Given the description of an element on the screen output the (x, y) to click on. 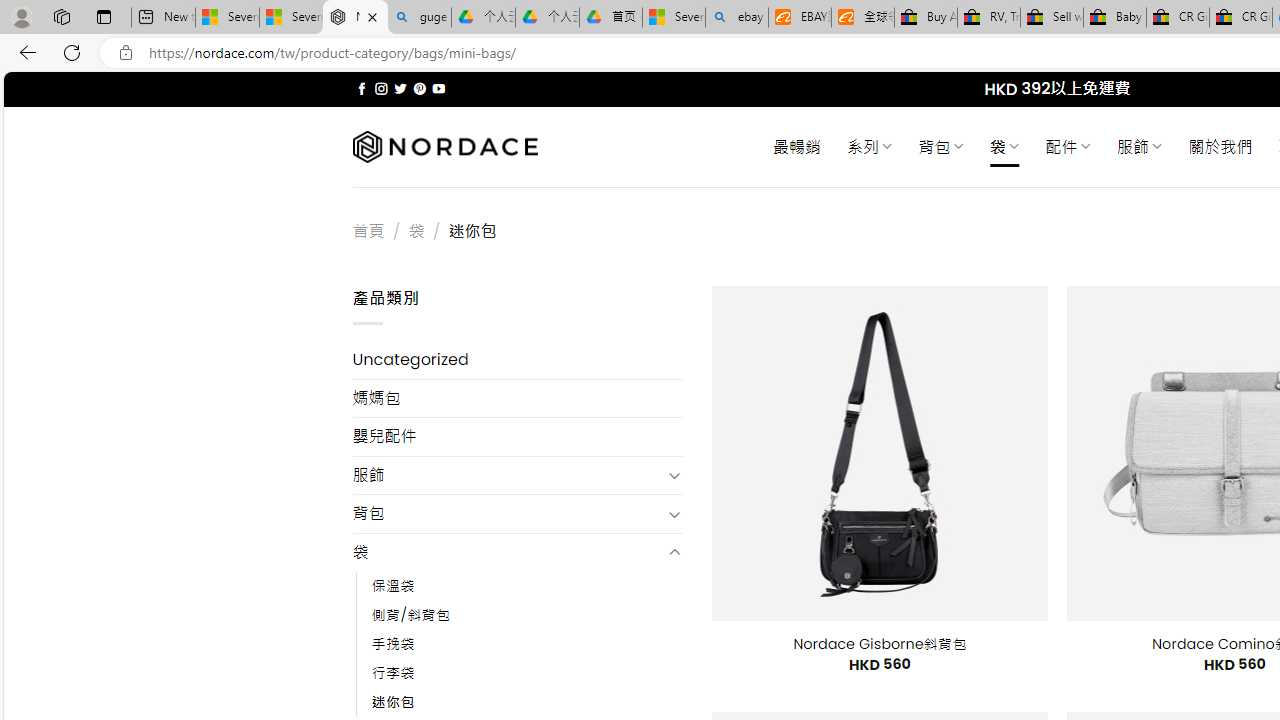
Follow on Facebook (361, 88)
